Given the description of an element on the screen output the (x, y) to click on. 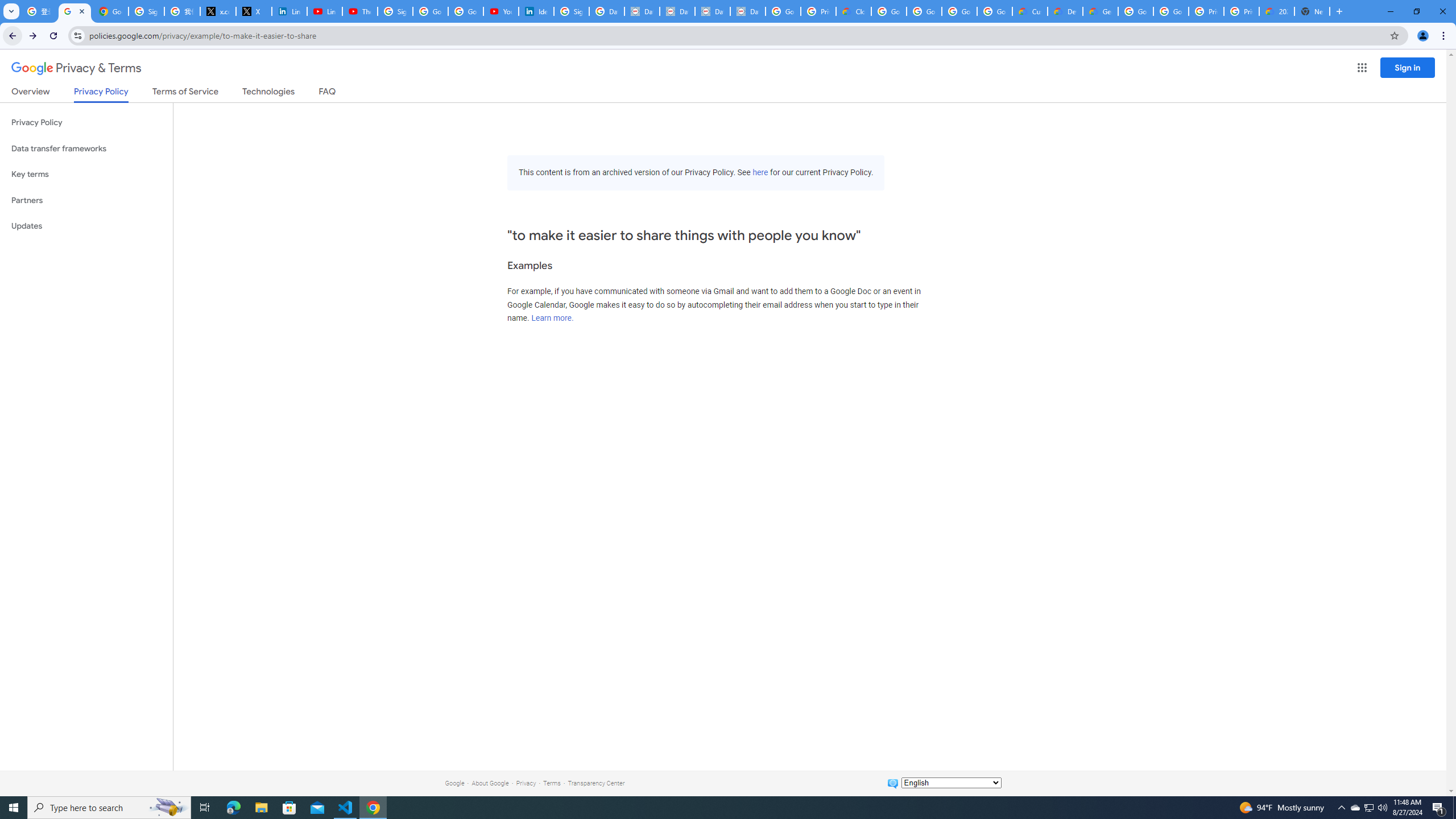
Data transfer frameworks (86, 148)
Gemini for Business and Developers | Google Cloud (1099, 11)
here (760, 172)
New Tab (1312, 11)
Learn more. (552, 318)
